Given the description of an element on the screen output the (x, y) to click on. 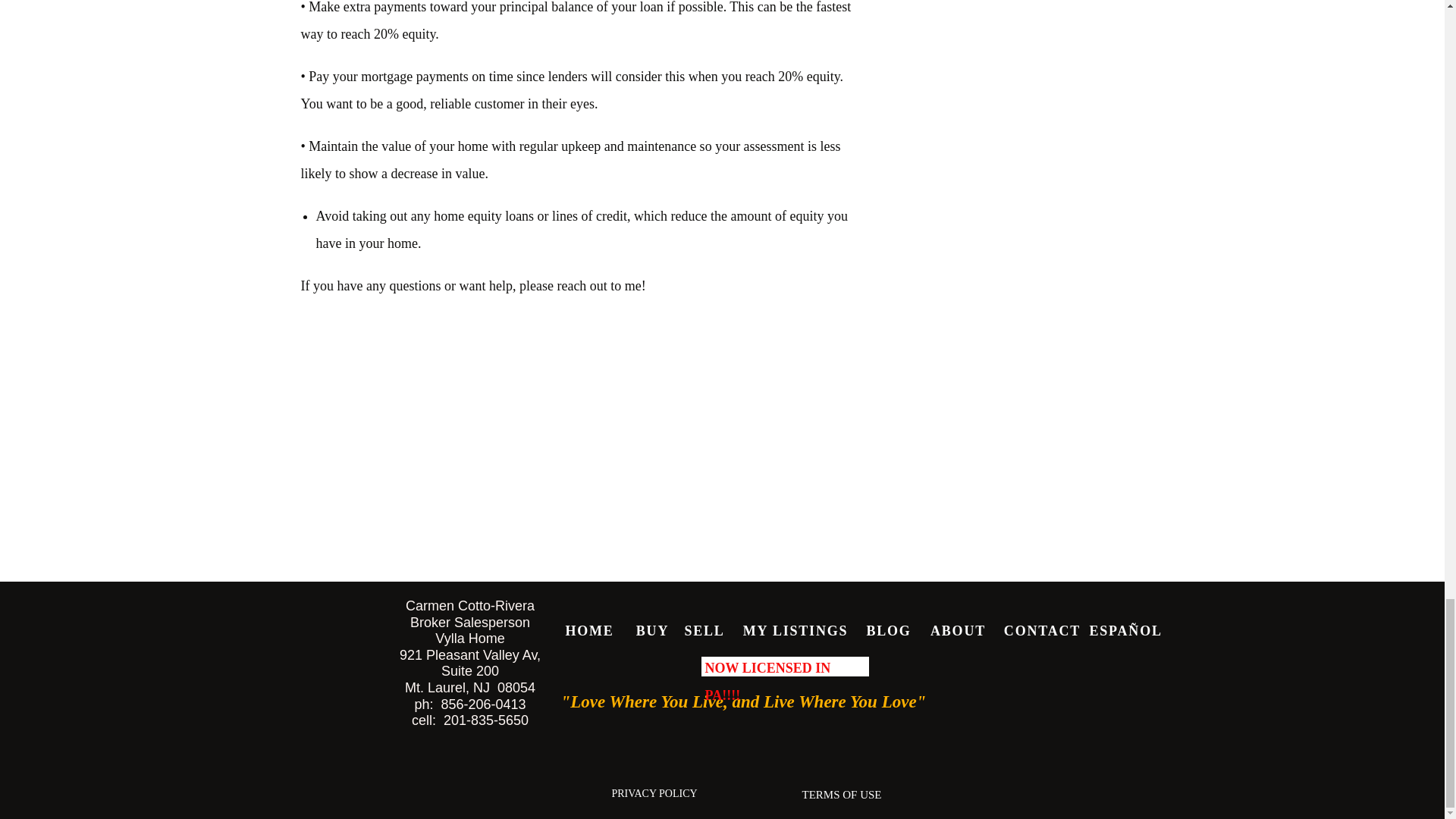
SELL (704, 628)
BUY (652, 628)
BLOG (888, 628)
HOME (589, 628)
CONTACT (1041, 628)
MY LISTINGS (795, 628)
ABOUT (957, 628)
